Given the description of an element on the screen output the (x, y) to click on. 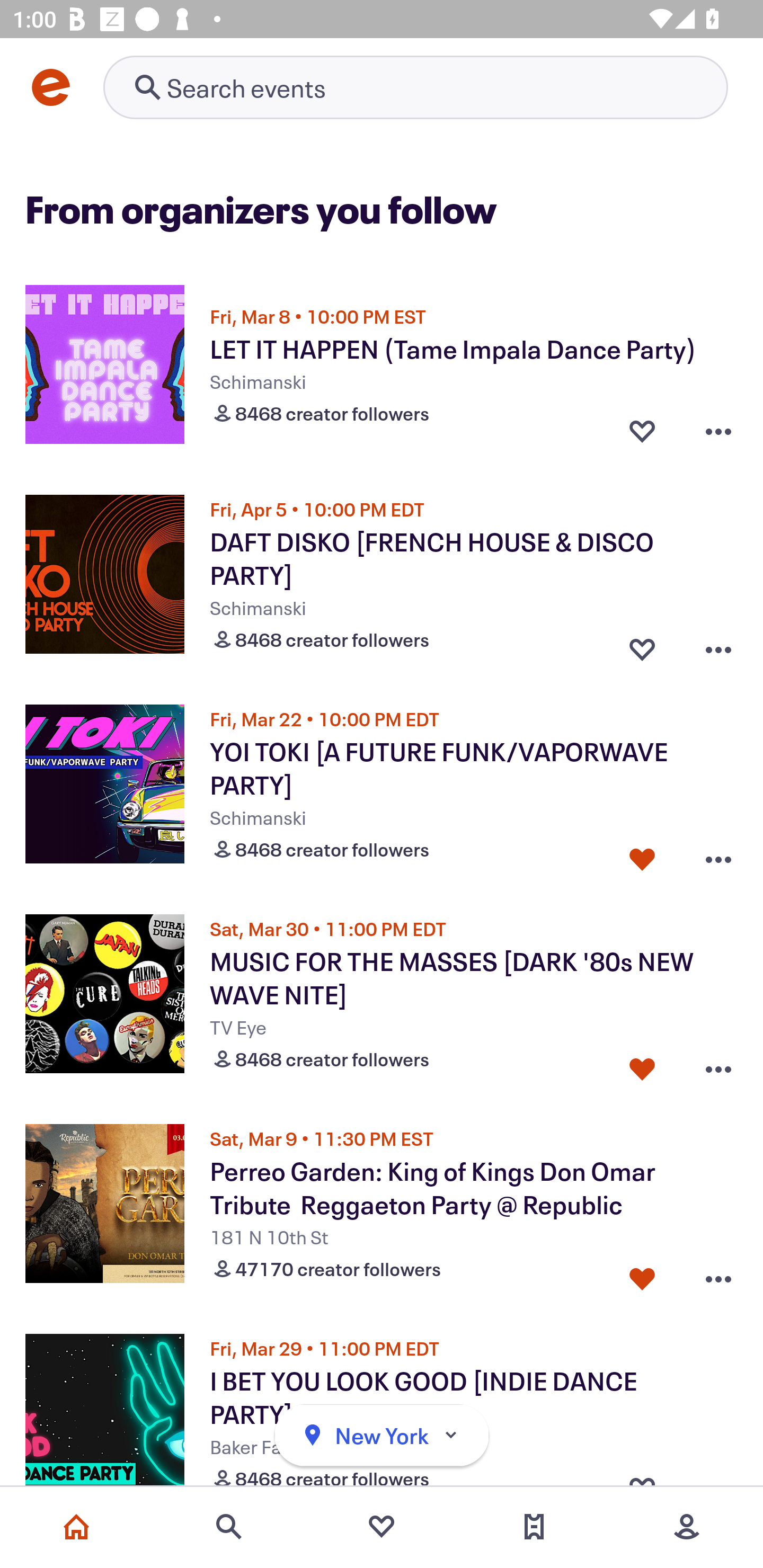
Retry's image Search events (415, 86)
Favorite button (642, 430)
Overflow menu button (718, 430)
Favorite button (642, 644)
Overflow menu button (718, 644)
Favorite button (642, 855)
Overflow menu button (718, 855)
Favorite button (642, 1065)
Overflow menu button (718, 1065)
Favorite button (642, 1274)
Overflow menu button (718, 1274)
New York (381, 1435)
Home (76, 1526)
Search events (228, 1526)
Favorites (381, 1526)
Tickets (533, 1526)
More (686, 1526)
